Given the description of an element on the screen output the (x, y) to click on. 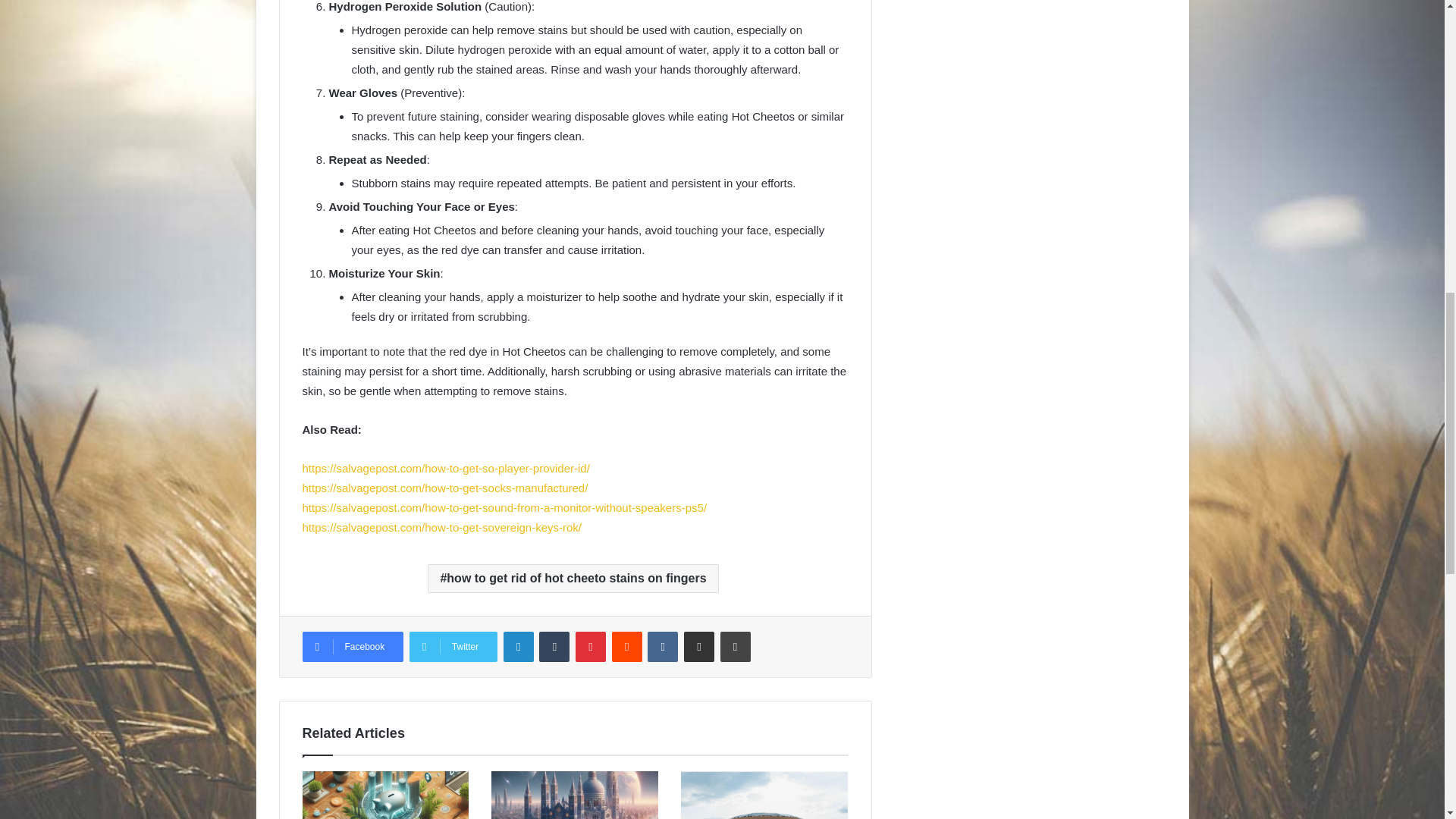
Twitter (453, 646)
Pinterest (590, 646)
Reddit (626, 646)
Facebook (352, 646)
Reddit (626, 646)
VKontakte (662, 646)
Print (735, 646)
LinkedIn (518, 646)
Print (735, 646)
Share via Email (699, 646)
how to get rid of hot cheeto stains on fingers (572, 578)
Facebook (352, 646)
Tumblr (553, 646)
VKontakte (662, 646)
Twitter (453, 646)
